Given the description of an element on the screen output the (x, y) to click on. 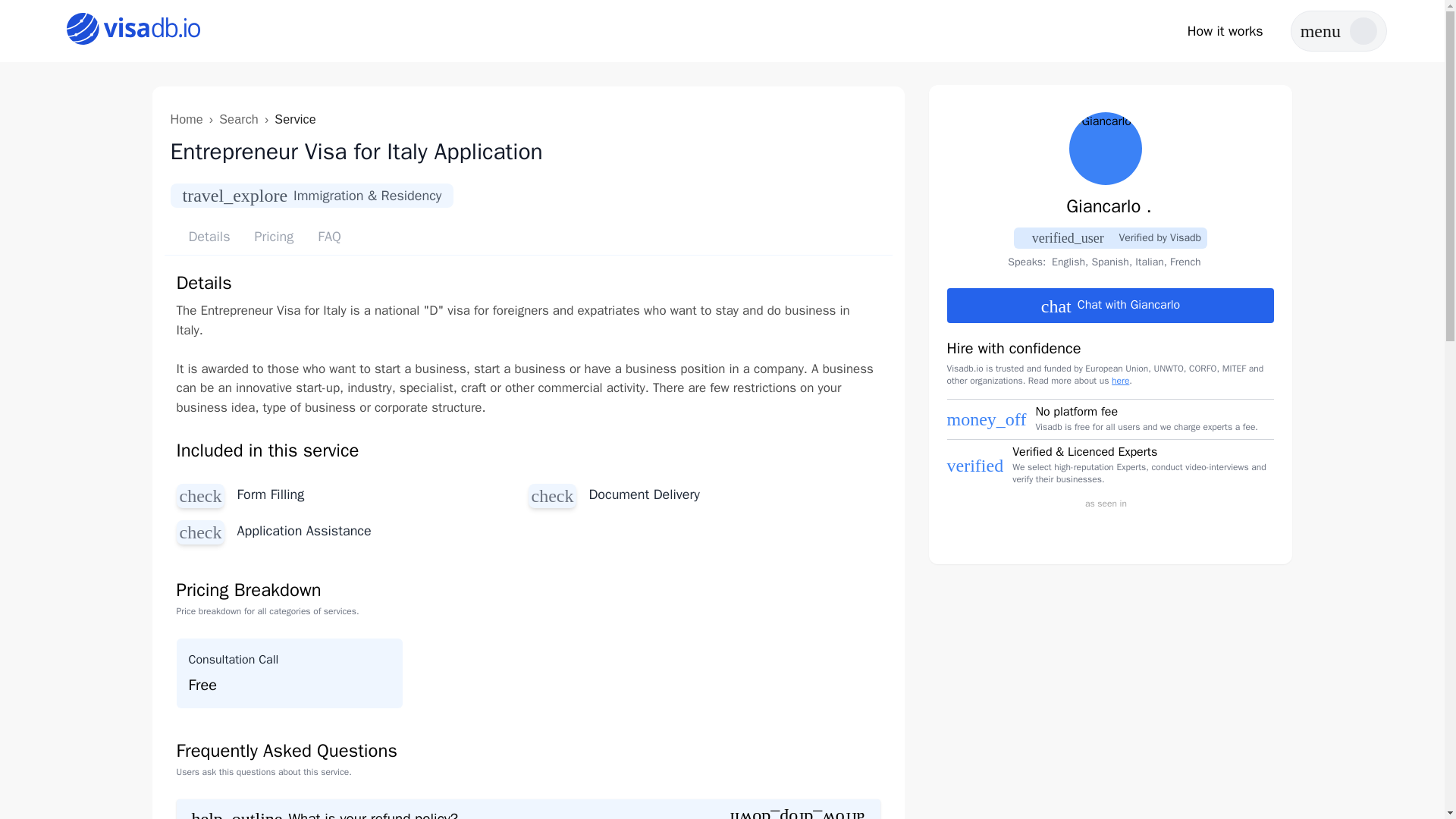
here (1120, 380)
Featured in CNN (1110, 529)
Featured in Business Insider (1055, 529)
Featured in The Guardian (1222, 529)
Featured in The Next Web (1164, 529)
How it works (1225, 31)
Featured in BBC (997, 529)
Search (239, 119)
Home (186, 119)
